Given the description of an element on the screen output the (x, y) to click on. 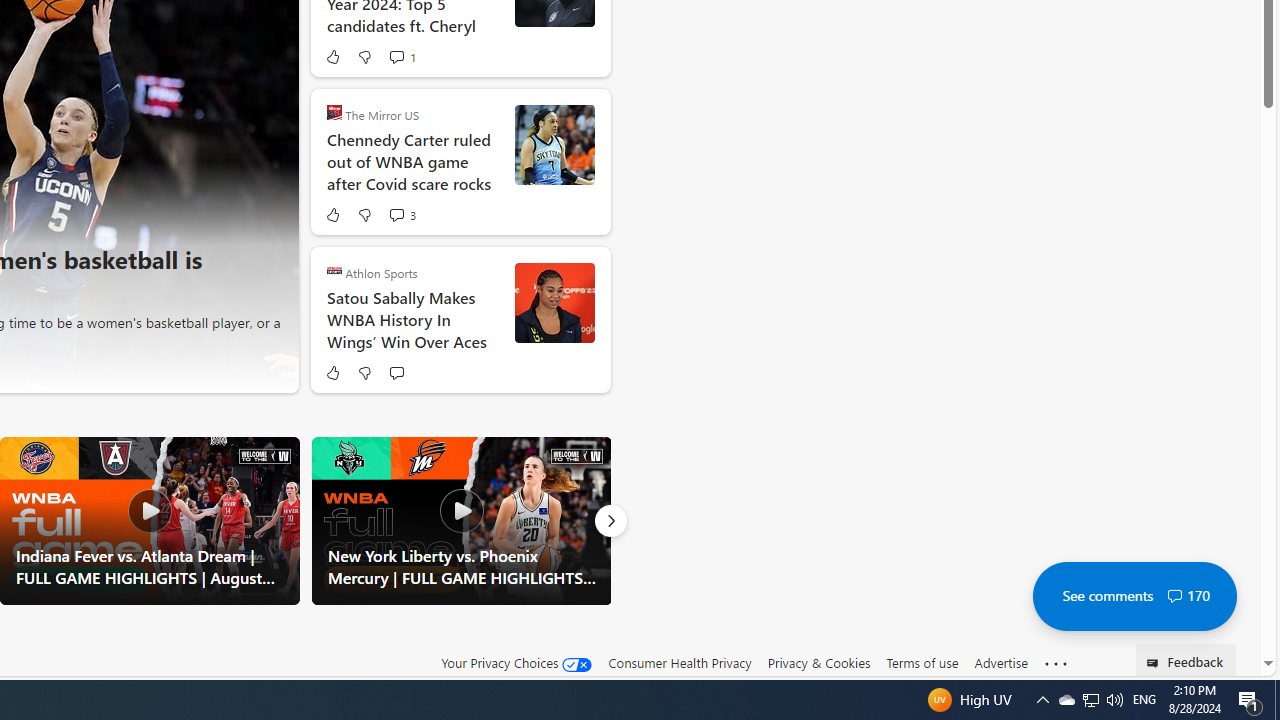
Privacy & Cookies (818, 663)
Your Privacy Choices (516, 662)
The Mirror US (333, 112)
Consumer Health Privacy (680, 663)
Advertise (1000, 662)
Your Privacy Choices (516, 663)
See comments 170 (1133, 596)
View comments 3 Comment (401, 214)
Class: oneFooter_seeMore-DS-EntryPoint1-1 (1055, 663)
Athlon Sports (333, 269)
next (271, 161)
